Given the description of an element on the screen output the (x, y) to click on. 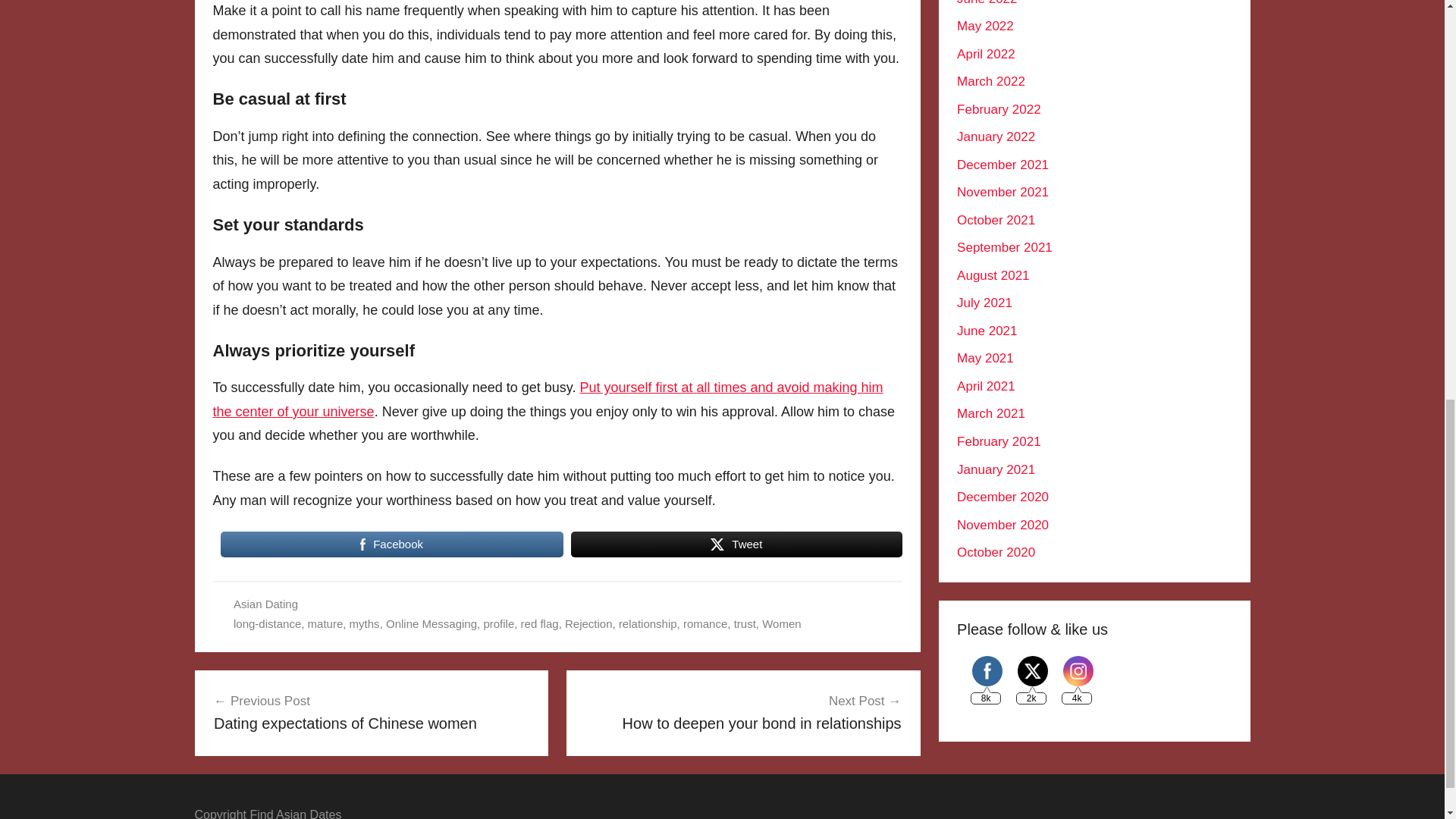
profile (498, 623)
myths (364, 623)
Rejection (588, 623)
Facebook (390, 543)
relationship (647, 623)
long-distance (266, 623)
Tweet (736, 543)
trust (744, 623)
Instagram (1078, 670)
Facebook (986, 670)
romance (704, 623)
June 2022 (986, 2)
mature (371, 711)
Online Messaging (325, 623)
